Given the description of an element on the screen output the (x, y) to click on. 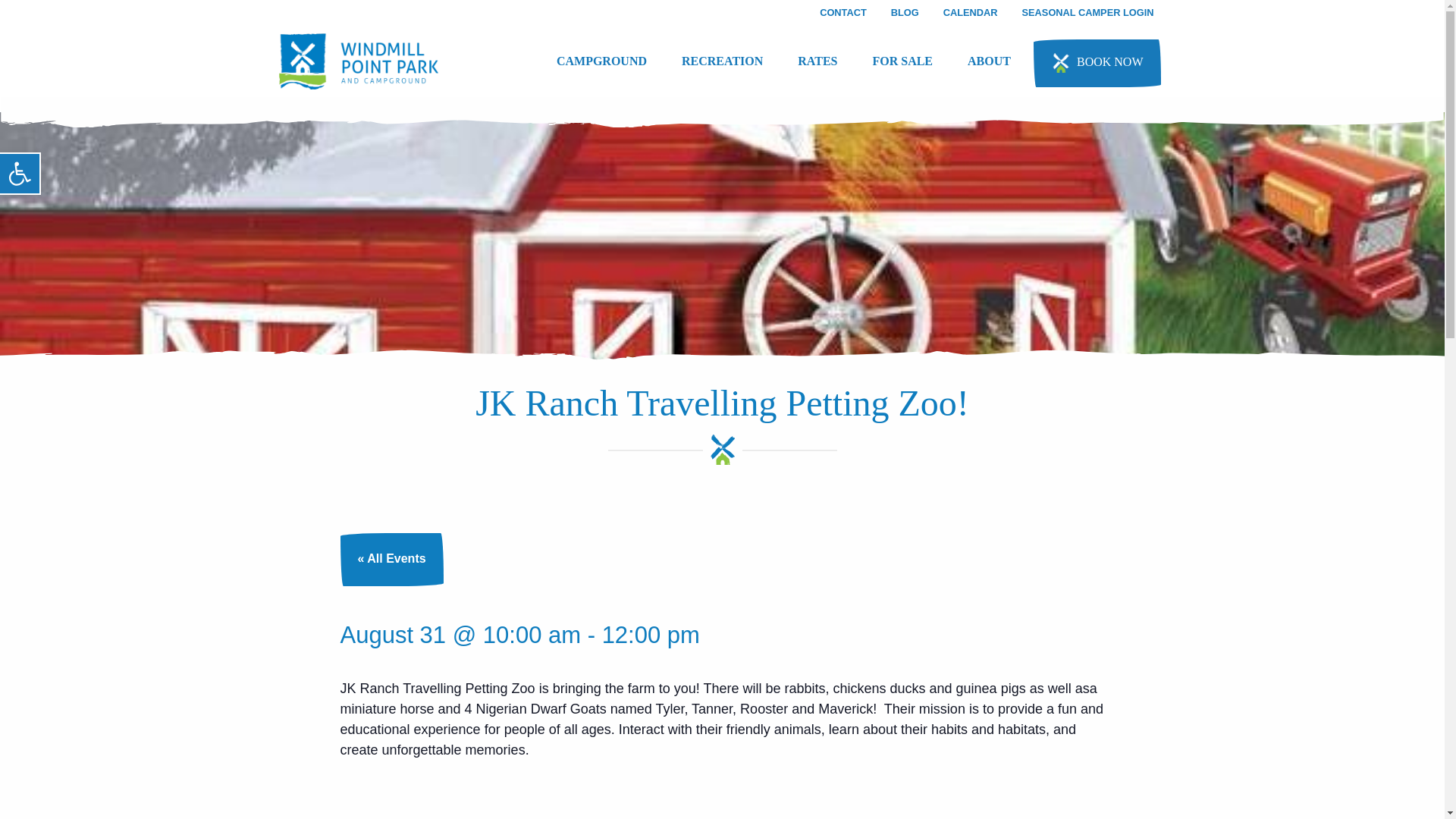
Accessibility Tools (19, 173)
Accessibility Tools (19, 173)
